Given the description of an element on the screen output the (x, y) to click on. 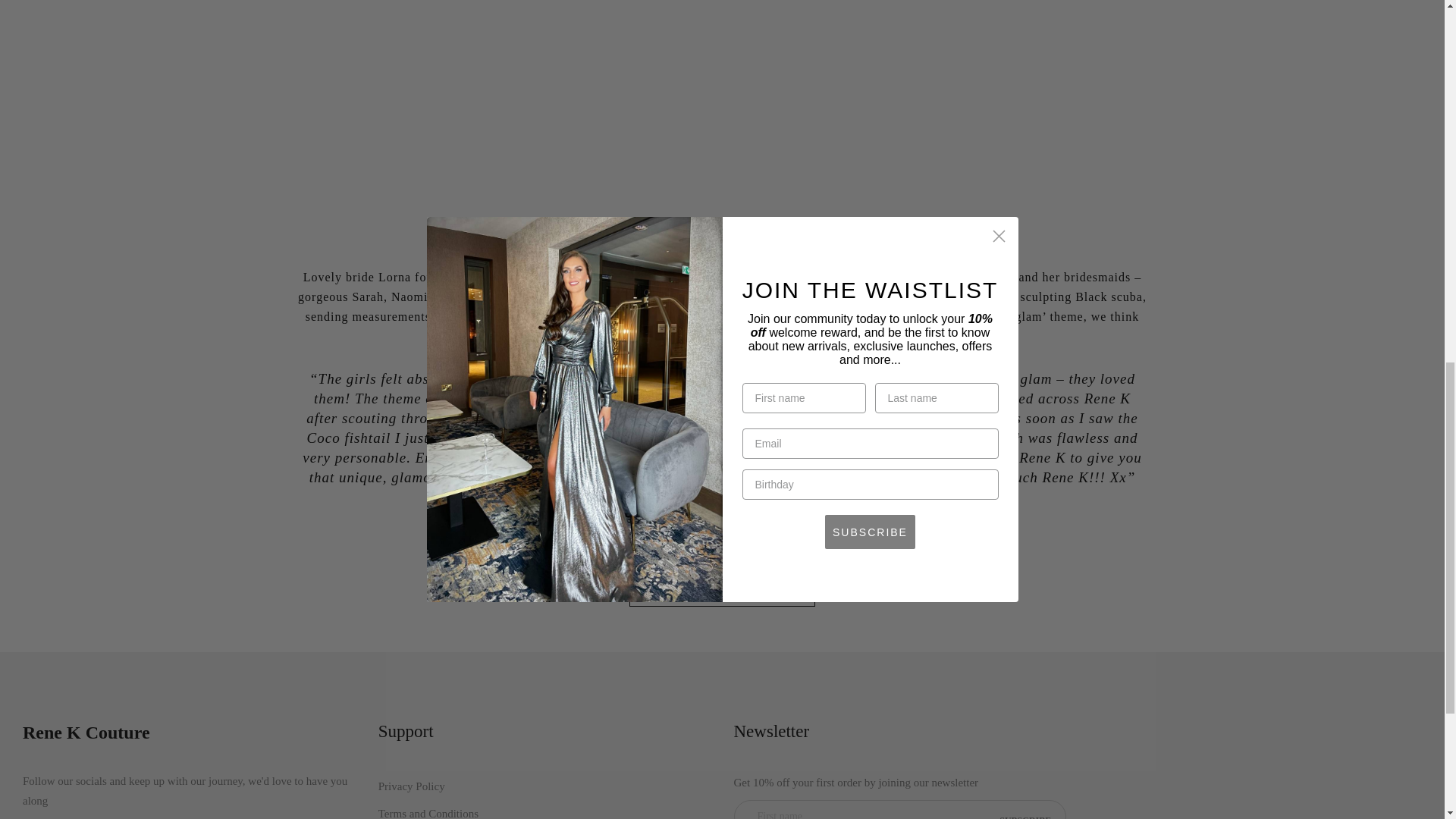
Terms and Conditions (428, 813)
GET IN TOUCH (721, 529)
BOOK AN APPOINTMENT (721, 590)
Subscribe (1024, 811)
Privacy Policy (411, 786)
